Given the description of an element on the screen output the (x, y) to click on. 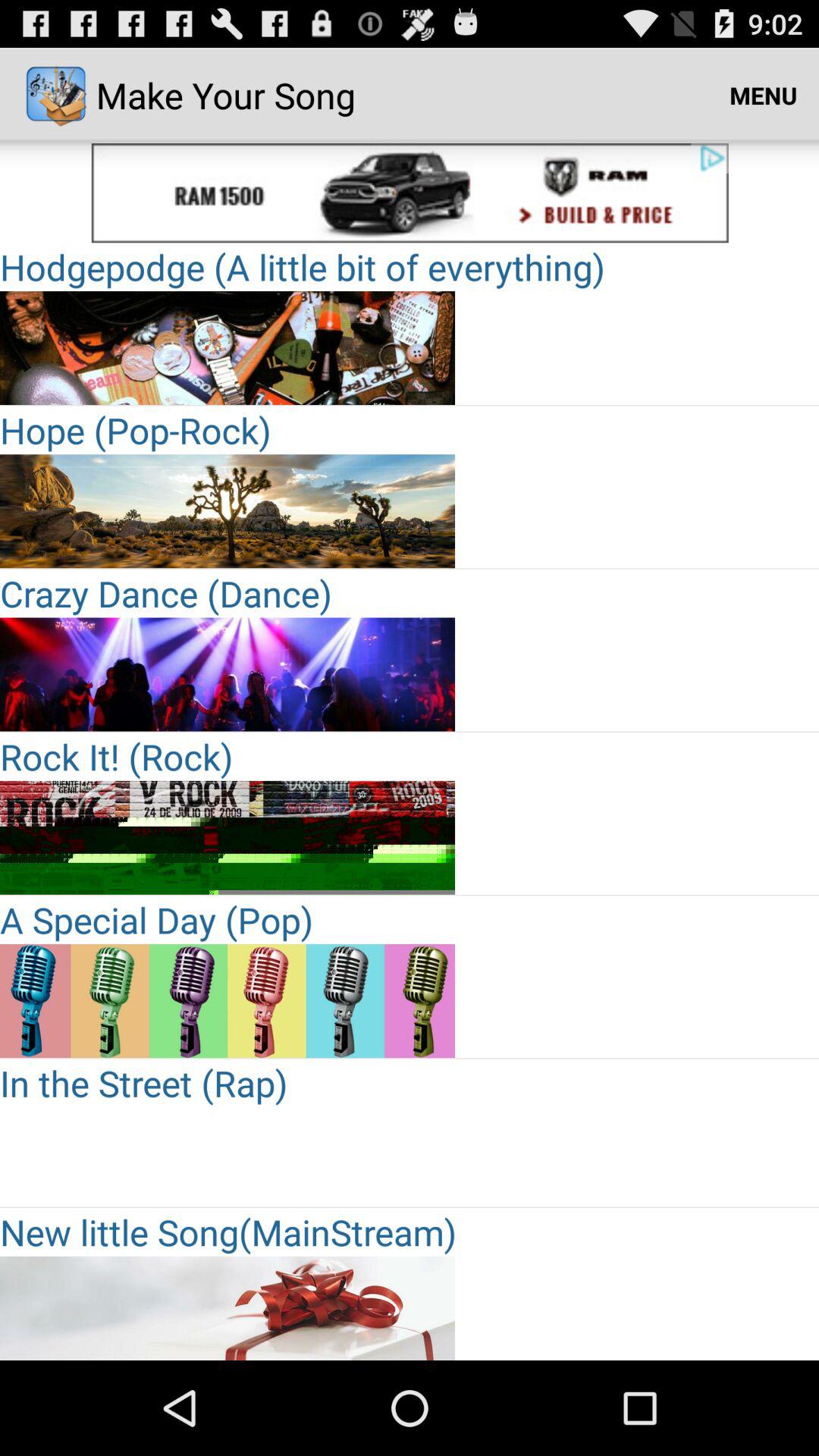
for add (227, 1000)
